Given the description of an element on the screen output the (x, y) to click on. 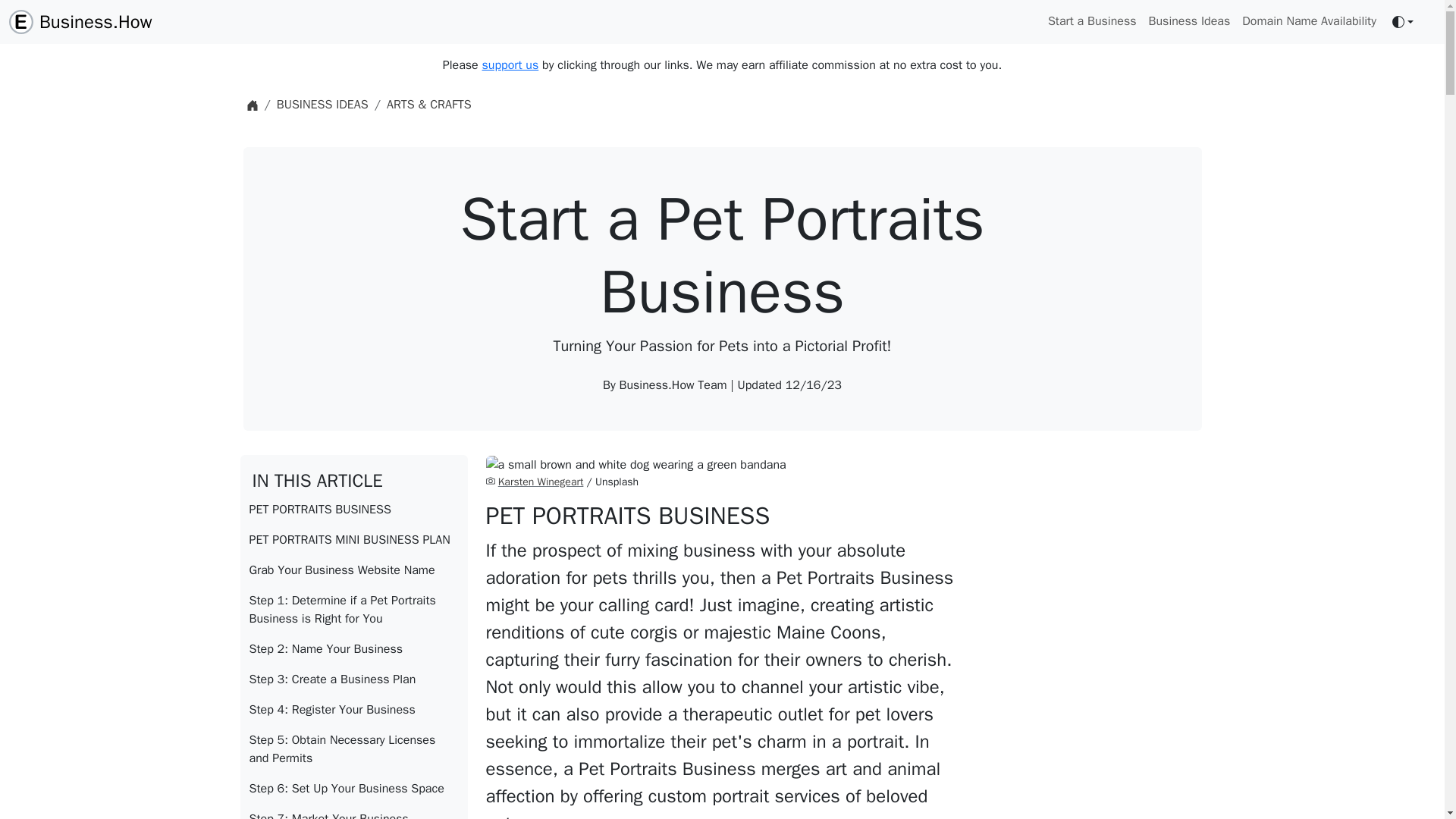
Step 3: Create a Business Plan (353, 679)
Business.How (80, 22)
Step 4: Register Your Business (353, 709)
Business Ideas (1189, 20)
Step 5: Obtain Necessary Licenses and Permits (353, 748)
BUSINESS IDEAS (322, 104)
PET PORTRAITS BUSINESS (353, 509)
Domain Name Availability (1308, 20)
Toggle theme (1402, 21)
Step 6: Set Up Your Business Space (353, 788)
